Given the description of an element on the screen output the (x, y) to click on. 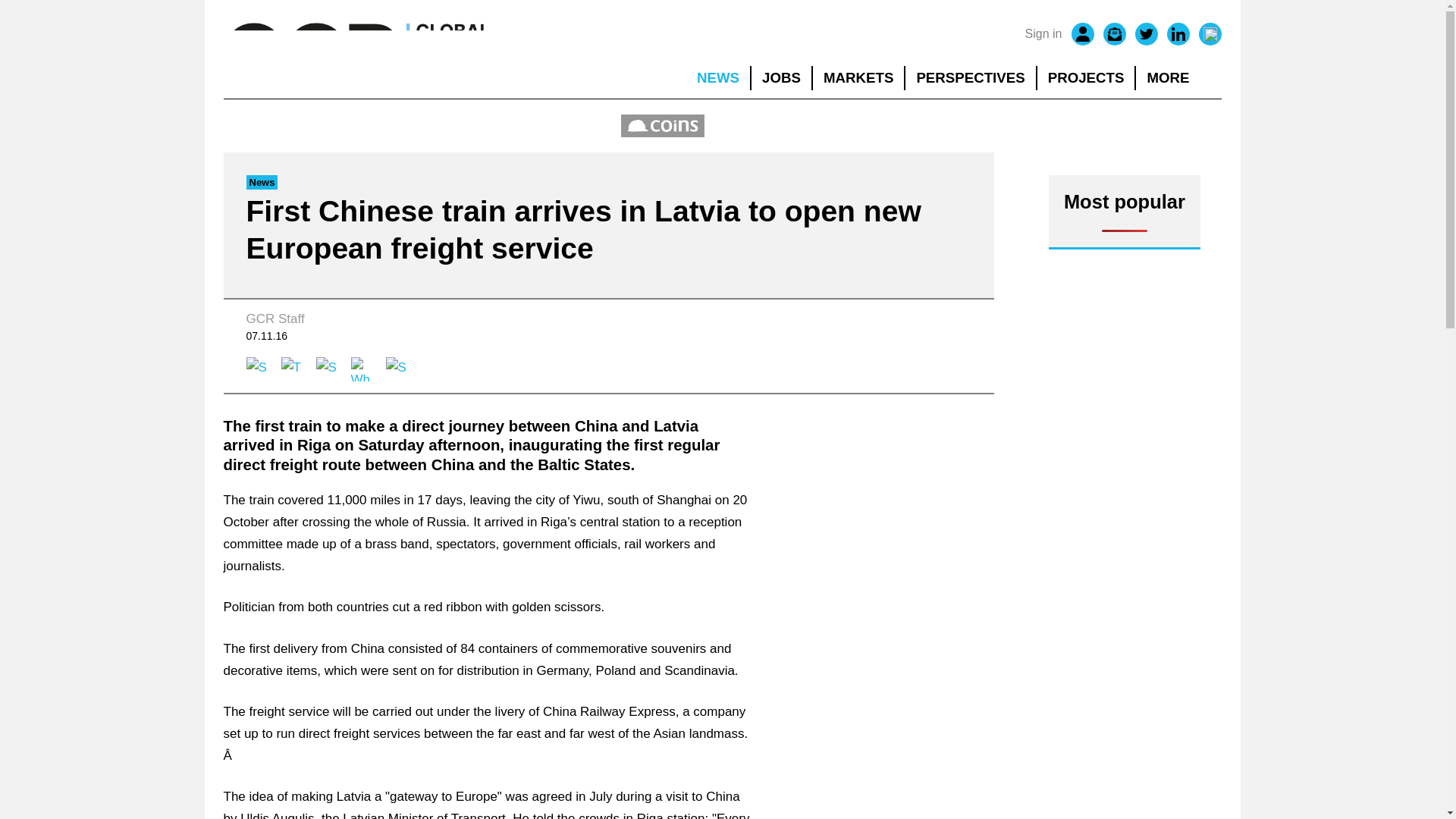
Share on Facebook (257, 369)
PERSPECTIVES (970, 78)
MORE (1178, 78)
Share on LinkedIn (327, 369)
Share on WhatsApp (362, 369)
MARKETS (858, 78)
Sign in (1043, 34)
Send email (397, 369)
NEWS (717, 78)
Tweet (292, 369)
